Given the description of an element on the screen output the (x, y) to click on. 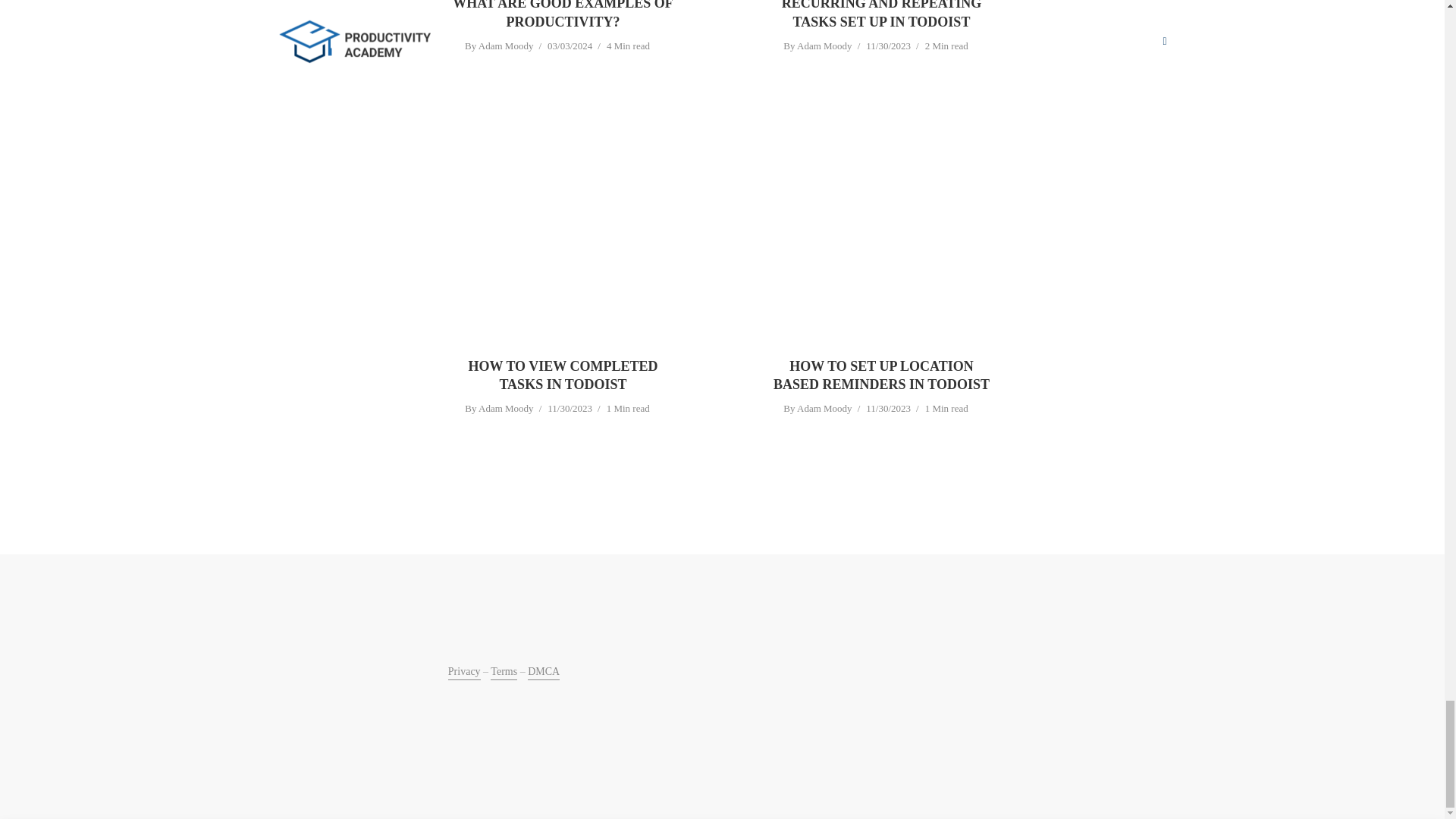
Adam Moody (506, 47)
Terms (503, 672)
DMCA (543, 672)
WHAT ARE GOOD EXAMPLES OF PRODUCTIVITY? (562, 15)
RECURRING AND REPEATING TASKS SET UP IN TODOIST (880, 15)
HOW TO VIEW COMPLETED TASKS IN TODOIST (562, 375)
Adam Moody (506, 409)
Privacy (464, 672)
HOW TO SET UP LOCATION BASED REMINDERS IN TODOIST (880, 375)
Adam Moody (823, 47)
Adam Moody (823, 409)
